Given the description of an element on the screen output the (x, y) to click on. 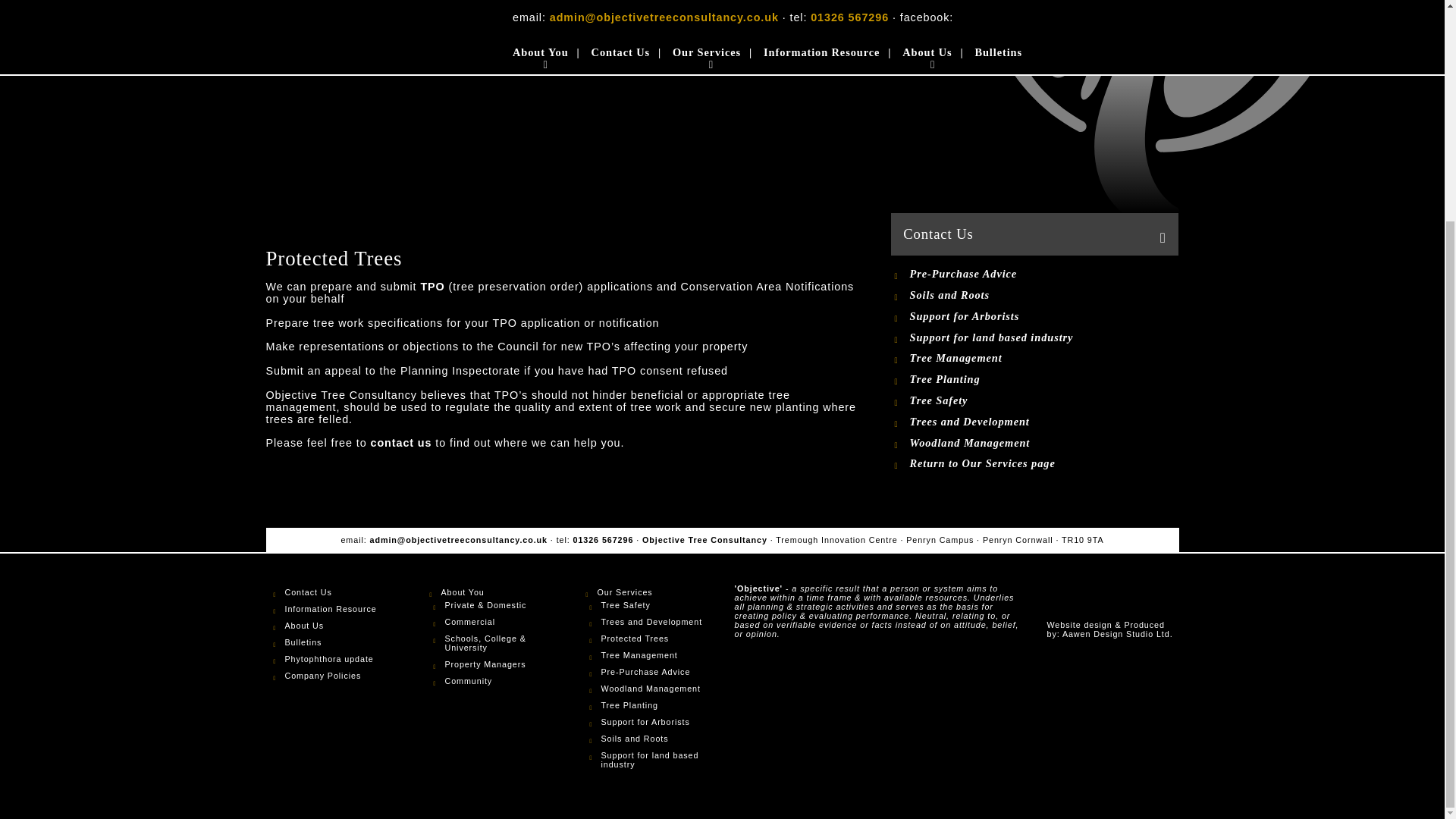
Objective Tree Consultancy (1111, 599)
Return to Our Services page (971, 463)
Support for land based industry (981, 337)
Support for Arborists (981, 316)
Aawen Design Studio Ltd (1117, 633)
Trees and Development (981, 421)
Objective Tree Consultancy (1111, 599)
Email Us (458, 539)
Call Us (603, 539)
Objective Tree Consultancy (1162, 107)
contact us (399, 442)
Tree Planting (981, 379)
Pre-Purchase Advice (981, 273)
Tree Management (981, 358)
Tree Safety (981, 400)
